Given the description of an element on the screen output the (x, y) to click on. 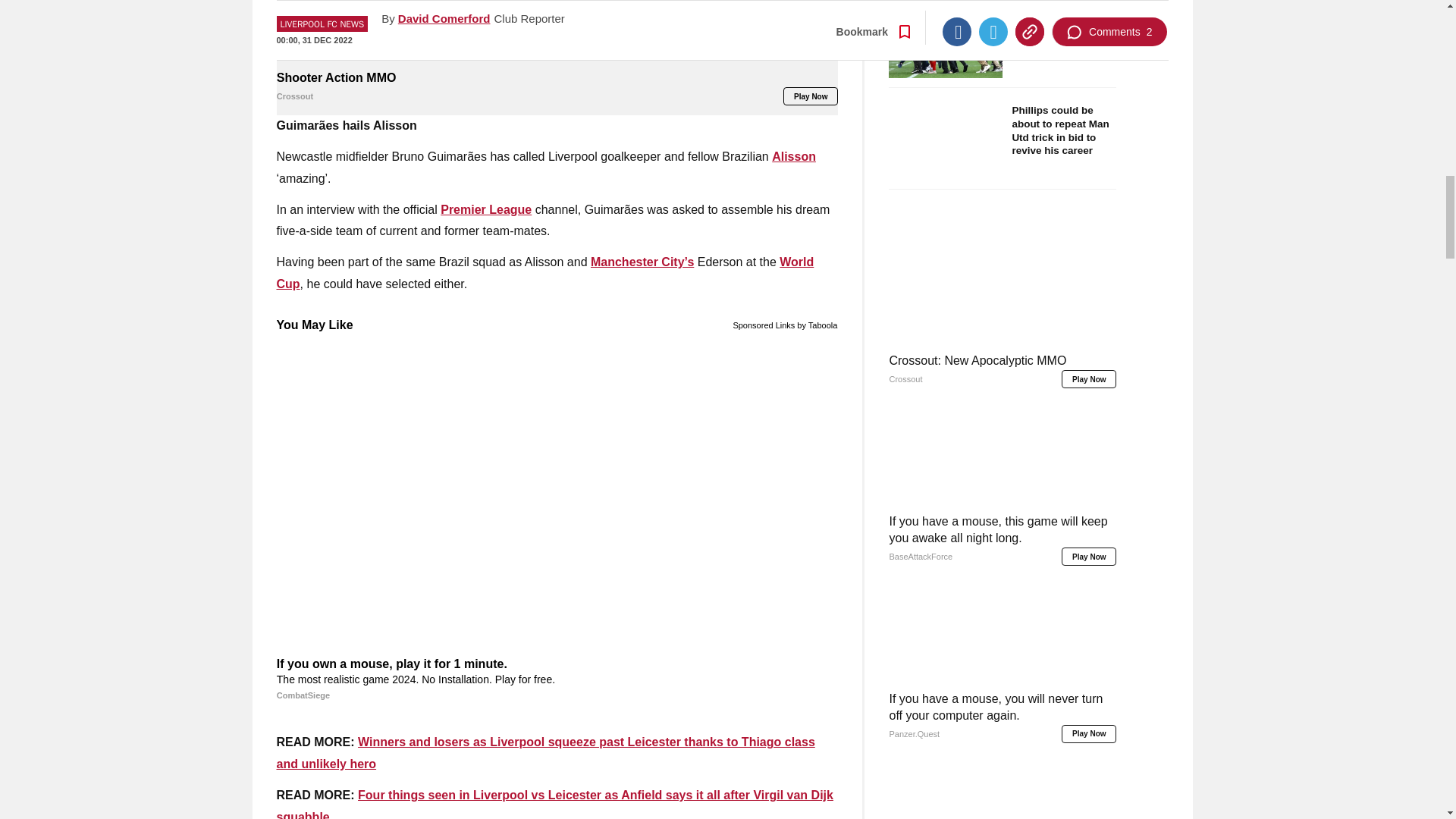
Shooter Action MMO (557, 33)
